Given the description of an element on the screen output the (x, y) to click on. 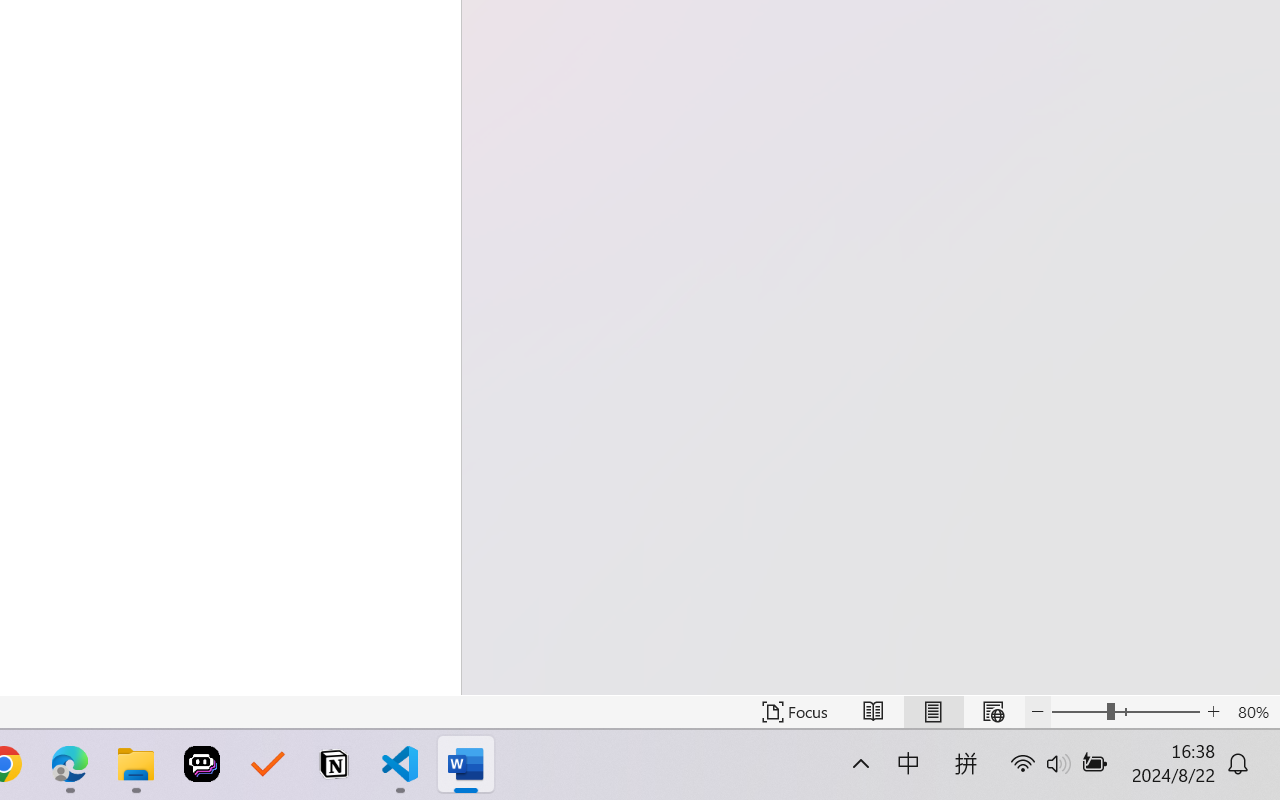
Zoom 80% (1253, 712)
